Given the description of an element on the screen output the (x, y) to click on. 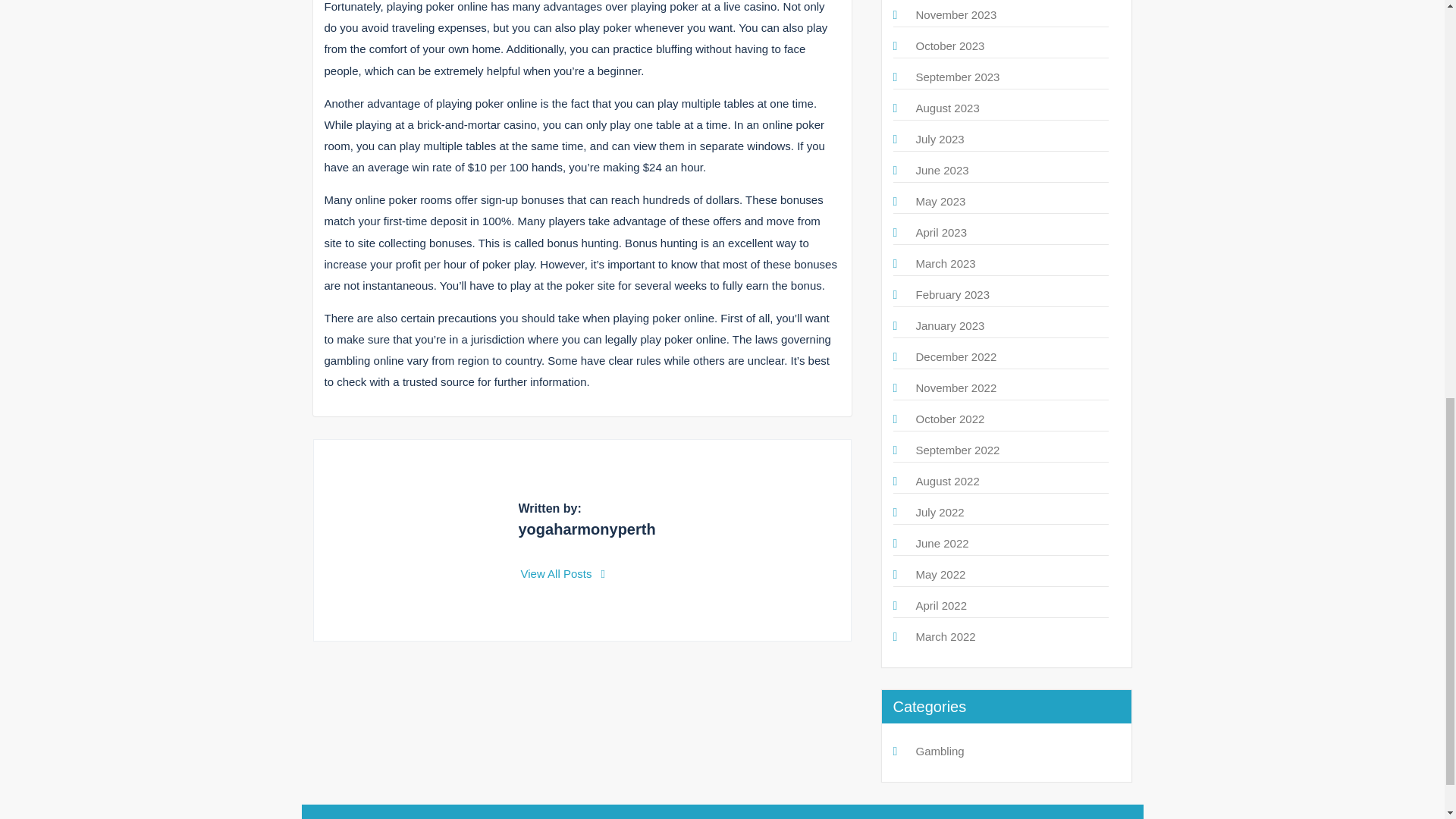
July 2022 (939, 512)
October 2022 (950, 418)
November 2022 (956, 387)
May 2022 (940, 574)
September 2023 (957, 76)
December 2022 (956, 356)
July 2023 (939, 138)
March 2022 (945, 635)
February 2023 (952, 294)
May 2023 (940, 201)
